Given the description of an element on the screen output the (x, y) to click on. 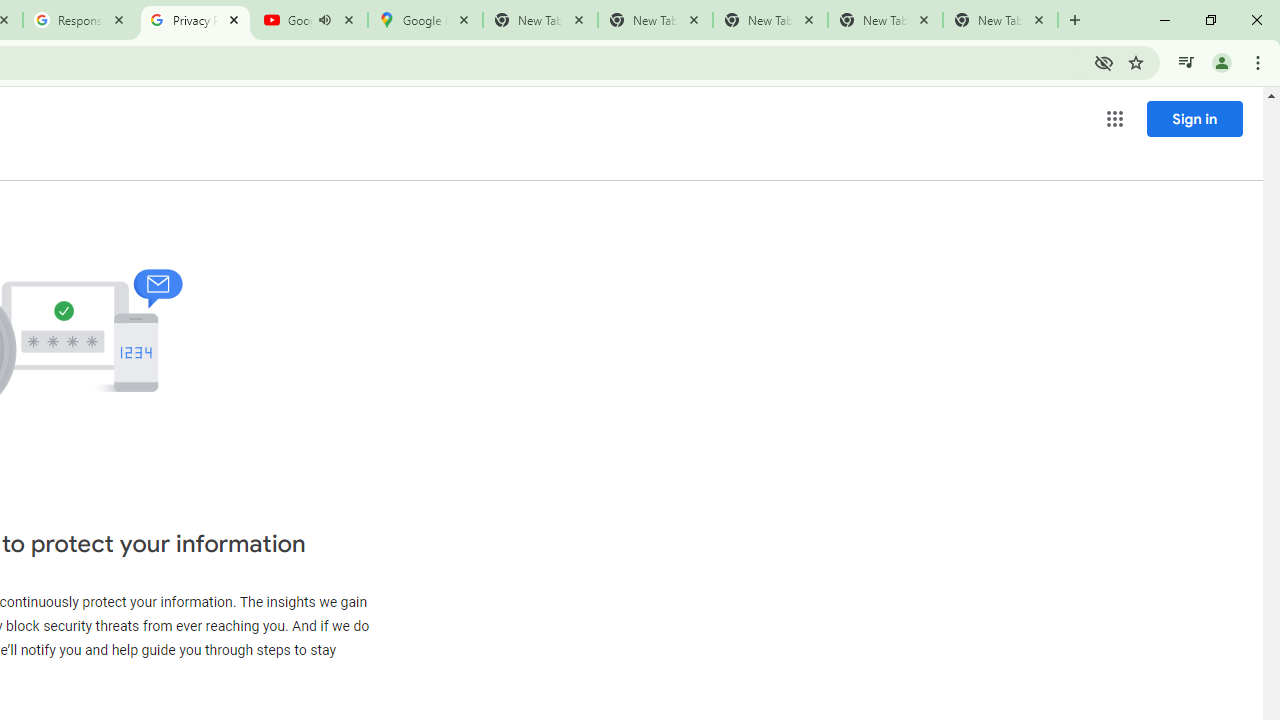
New Tab (1000, 20)
